Given the description of an element on the screen output the (x, y) to click on. 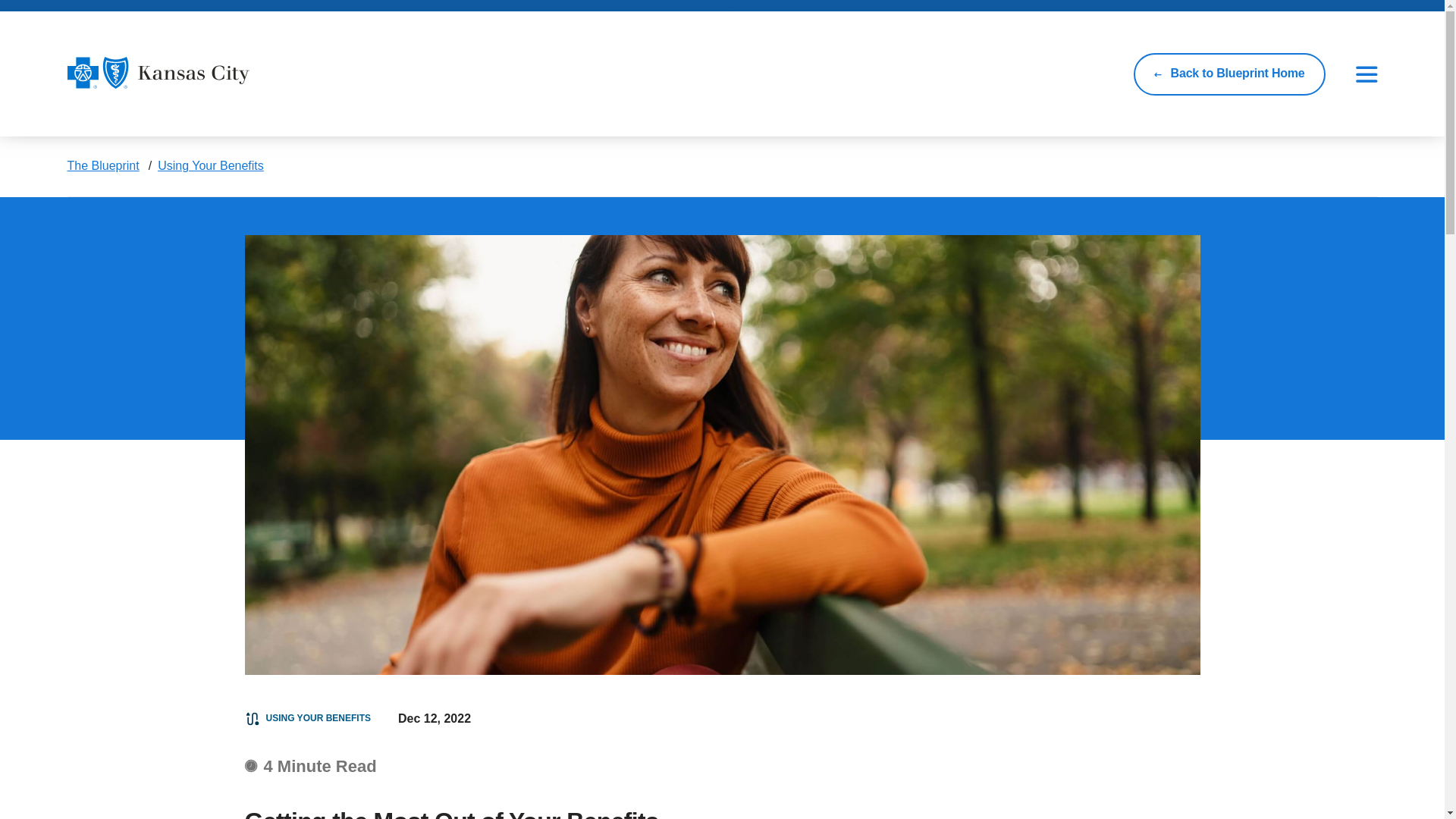
Using Your Benefits (210, 165)
Back to Blueprint Home (1229, 74)
The Blueprint (102, 165)
